Given the description of an element on the screen output the (x, y) to click on. 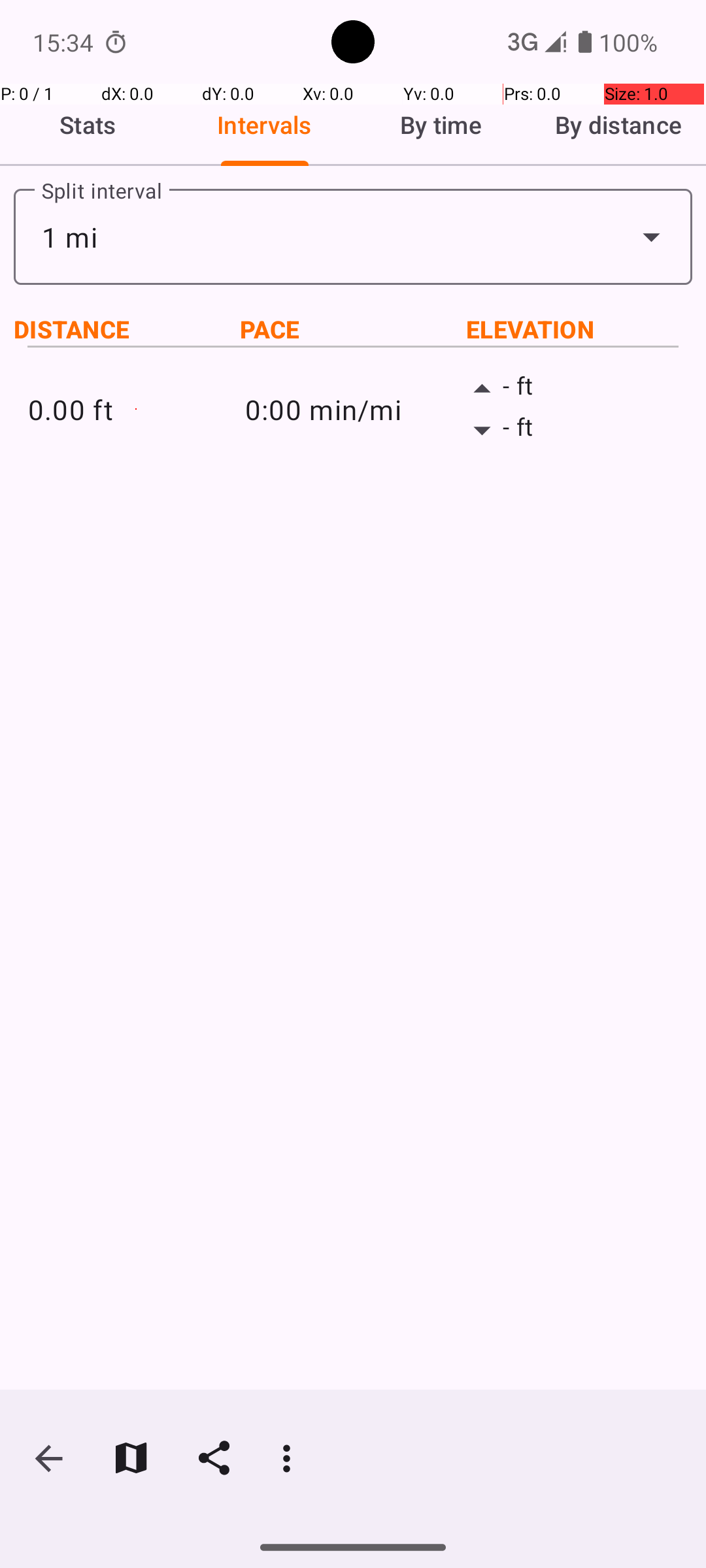
1 mi Element type: android.widget.Spinner (352, 236)
PACE Element type: android.widget.TextView (352, 328)
ELEVATION Element type: android.widget.TextView (579, 328)
0.00 ft Element type: android.widget.TextView (135, 408)
0:00 min/mi Element type: android.widget.TextView (352, 408)
- ft Element type: android.widget.TextView (569, 388)
